Given the description of an element on the screen output the (x, y) to click on. 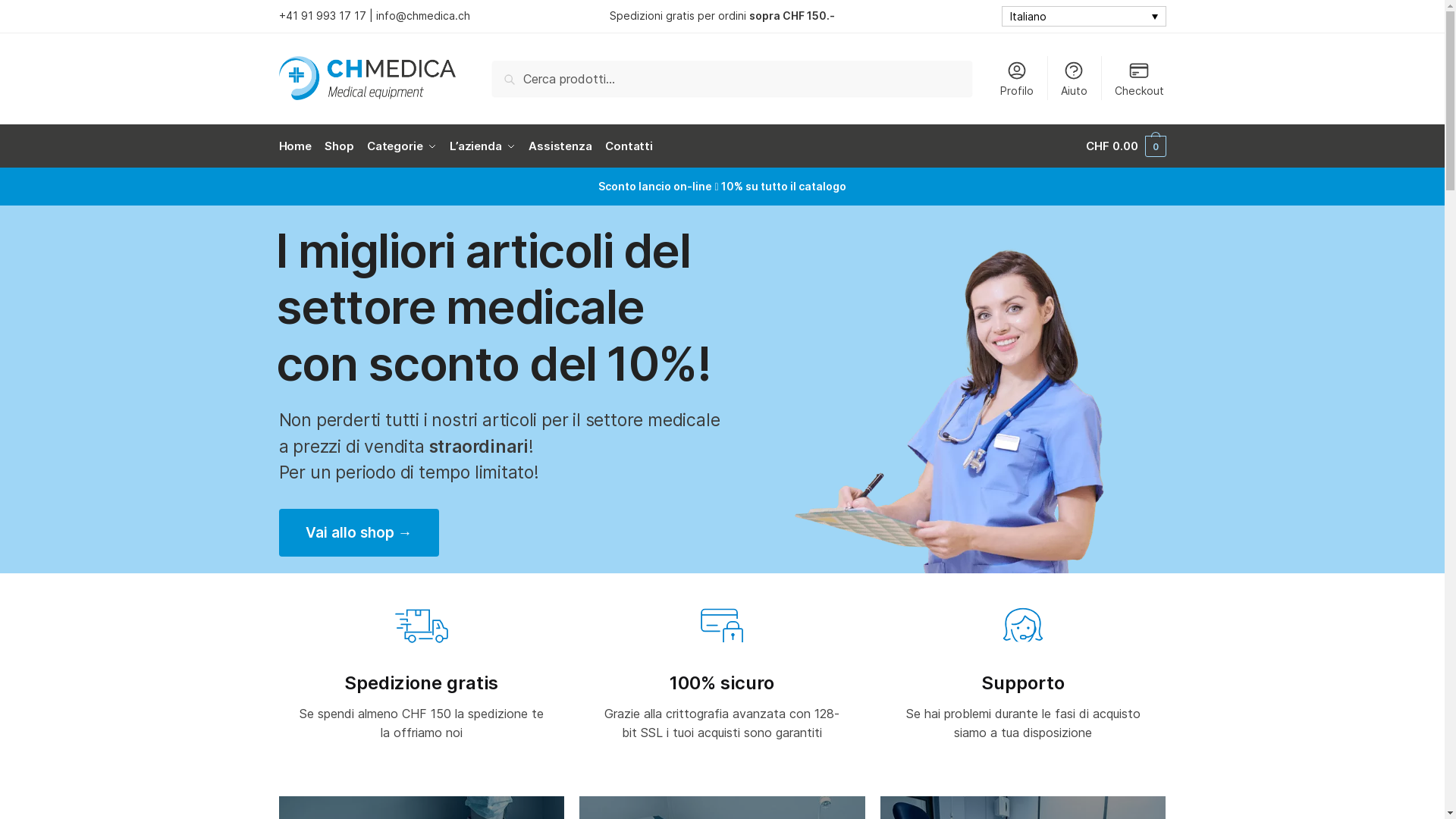
Profilo Element type: text (1016, 78)
+41 91 993 17 17 Element type: text (322, 15)
Shop Element type: text (339, 146)
Assistenza Element type: text (560, 146)
 info@chmedica.ch Element type: text (421, 15)
Contatti Element type: text (629, 146)
CHF 0.00 0 Element type: text (1125, 146)
Aiuto Element type: text (1073, 78)
Home Element type: text (298, 146)
Categorie Element type: text (401, 146)
Cerca Element type: text (512, 70)
Checkout Element type: text (1139, 78)
Italiano Element type: text (1083, 16)
